Given the description of an element on the screen output the (x, y) to click on. 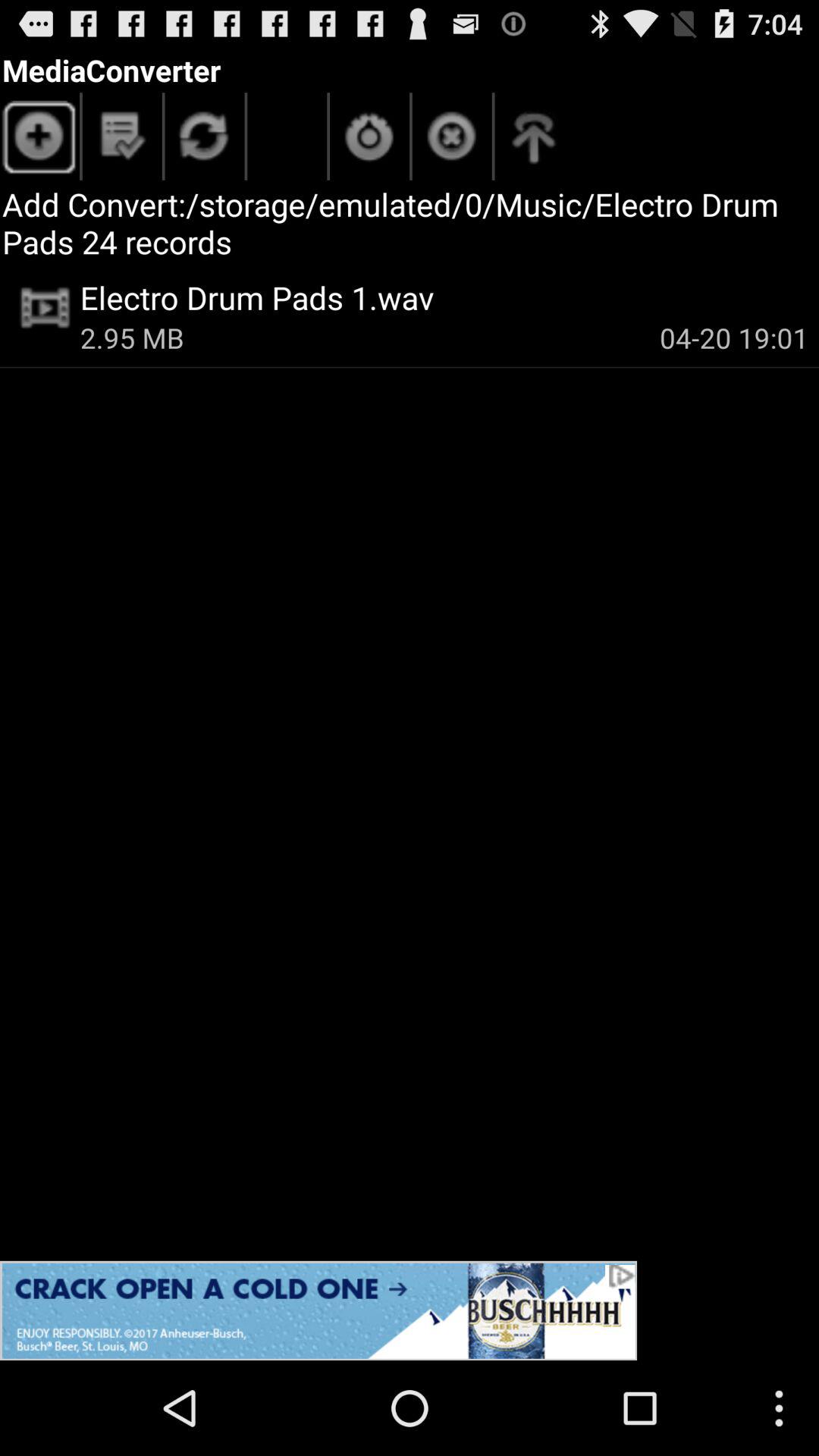
add items (39, 140)
